Given the description of an element on the screen output the (x, y) to click on. 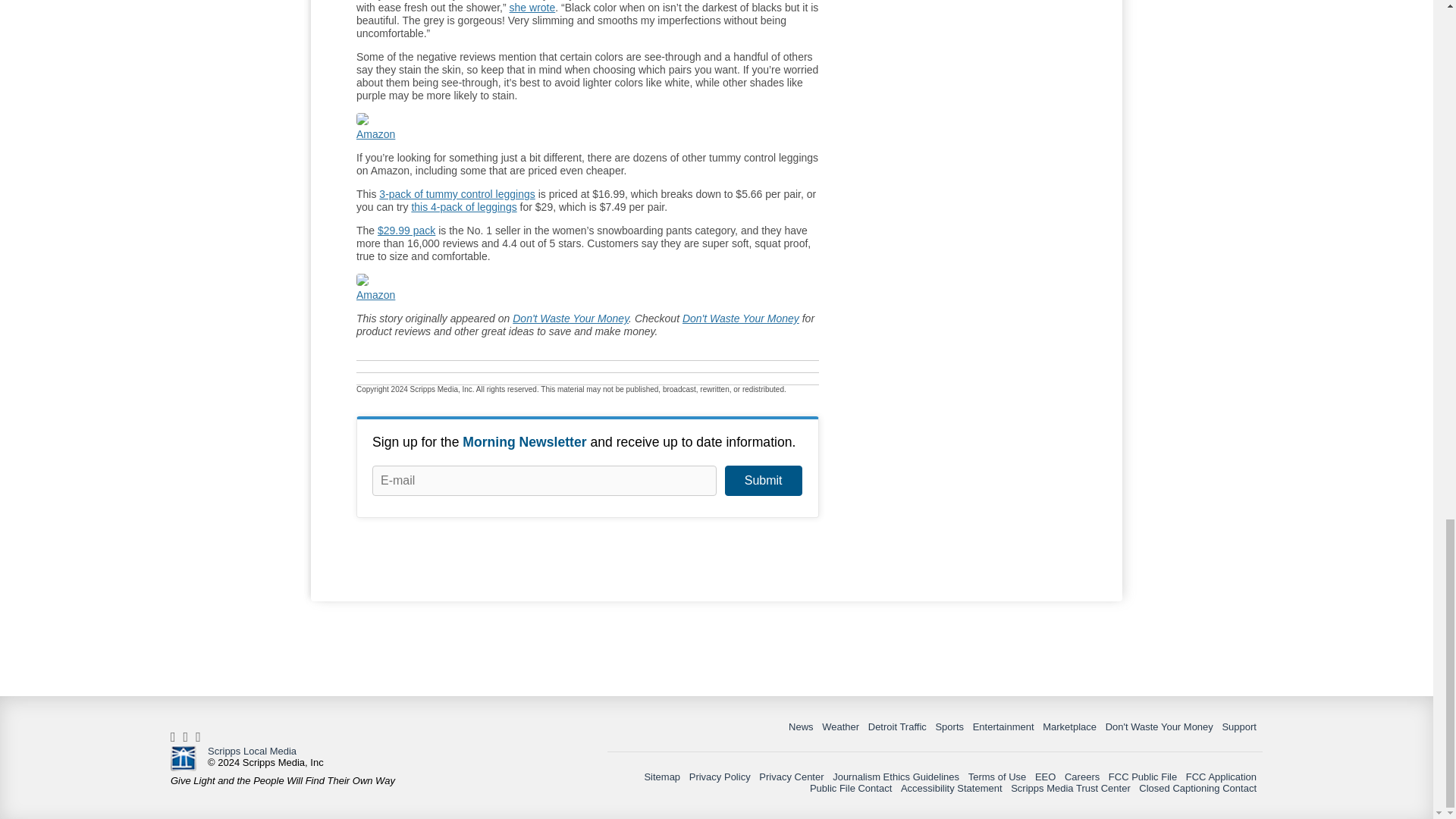
Submit (763, 481)
